Given the description of an element on the screen output the (x, y) to click on. 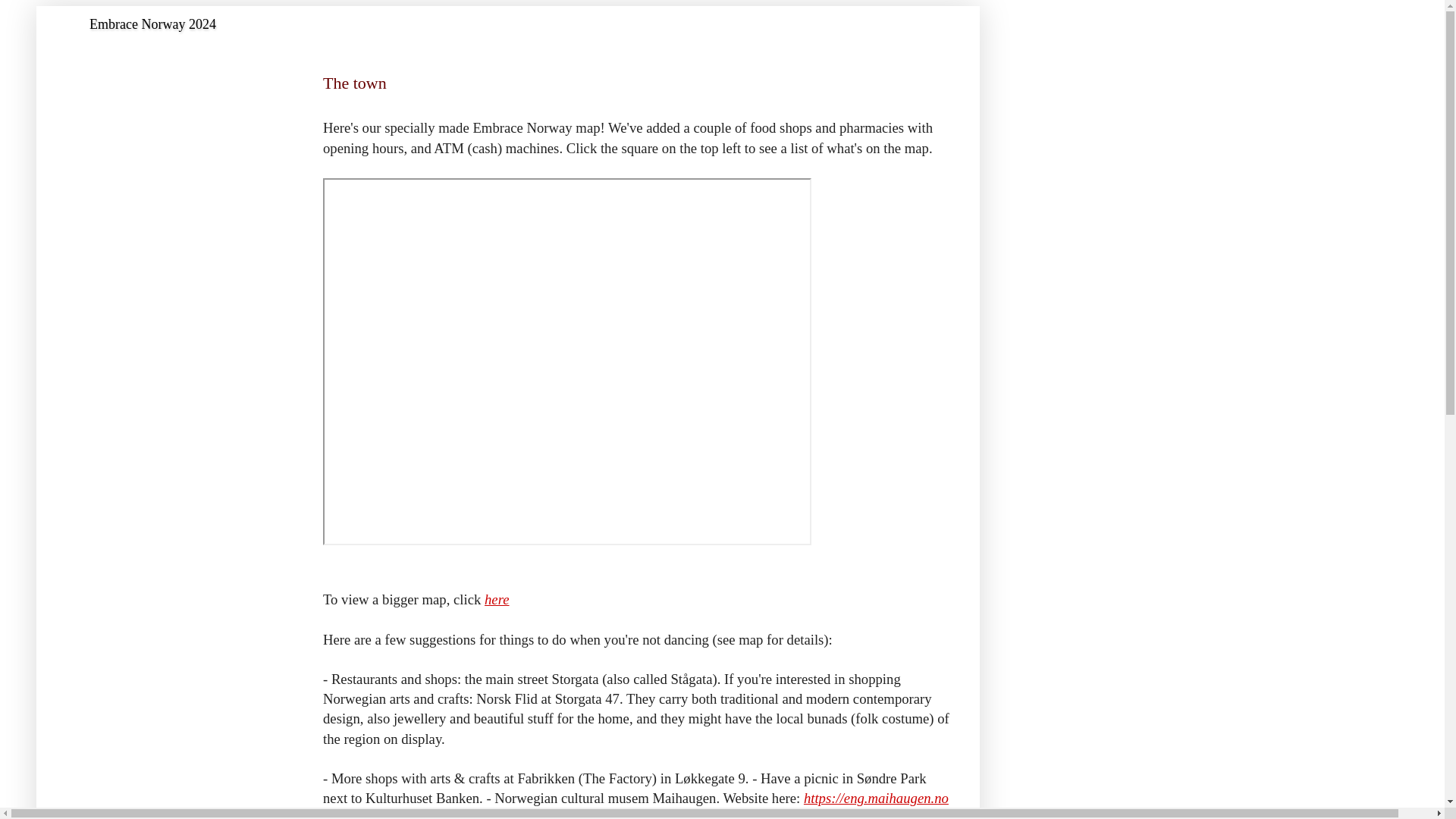
Embrace Norway 2024 (151, 23)
here (496, 599)
